Given the description of an element on the screen output the (x, y) to click on. 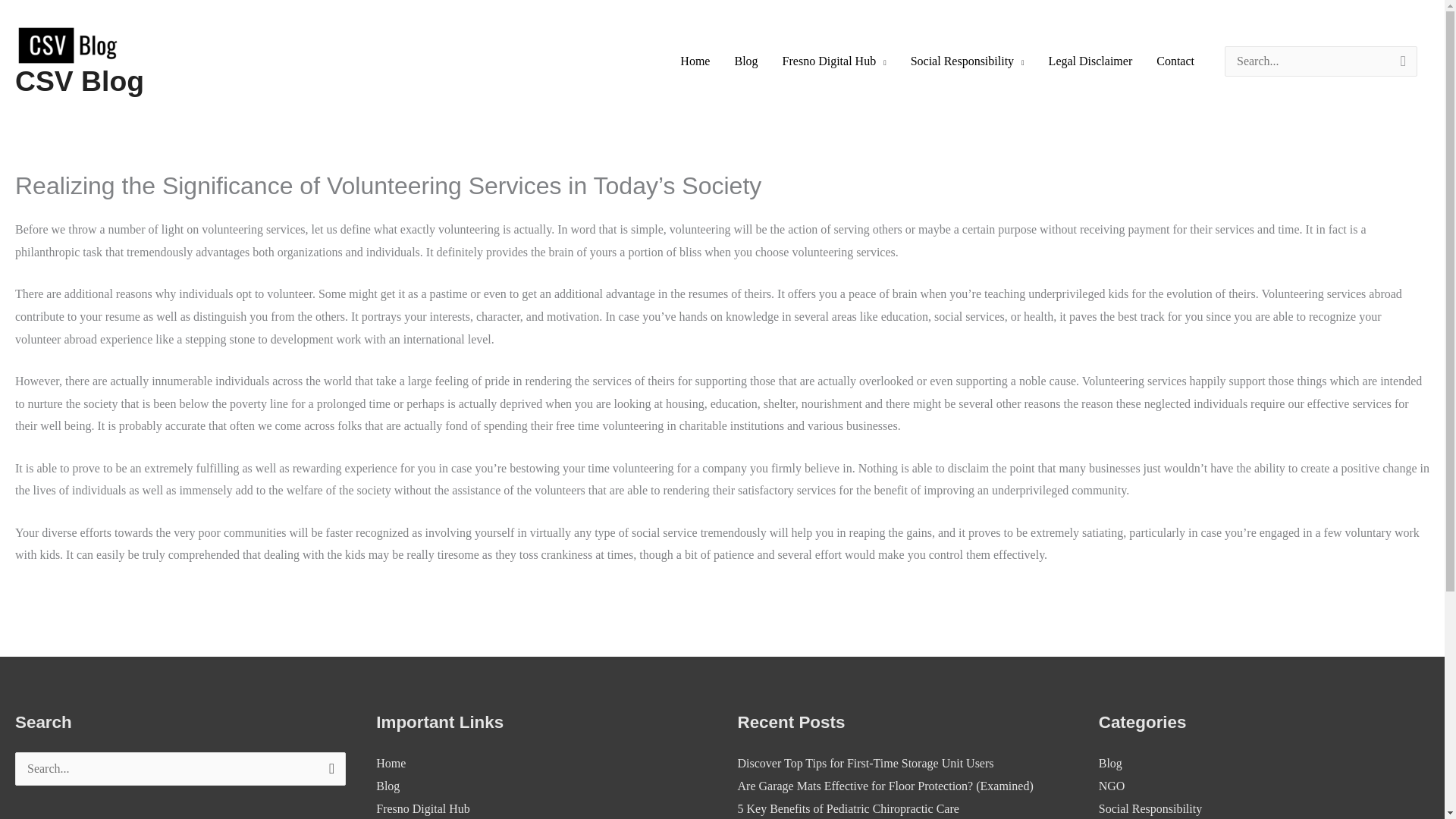
Search (328, 773)
Home (390, 762)
Blog (1110, 762)
CSV Blog (79, 81)
Search (1399, 66)
Home (695, 60)
Social Responsibility (967, 60)
Search (328, 773)
Social Responsibility (1150, 808)
Fresno Digital Hub (422, 808)
Search (328, 773)
Legal Disclaimer (1090, 60)
Blog (386, 785)
NGO (1112, 785)
Discover Top Tips for First-Time Storage Unit Users (864, 762)
